Given the description of an element on the screen output the (x, y) to click on. 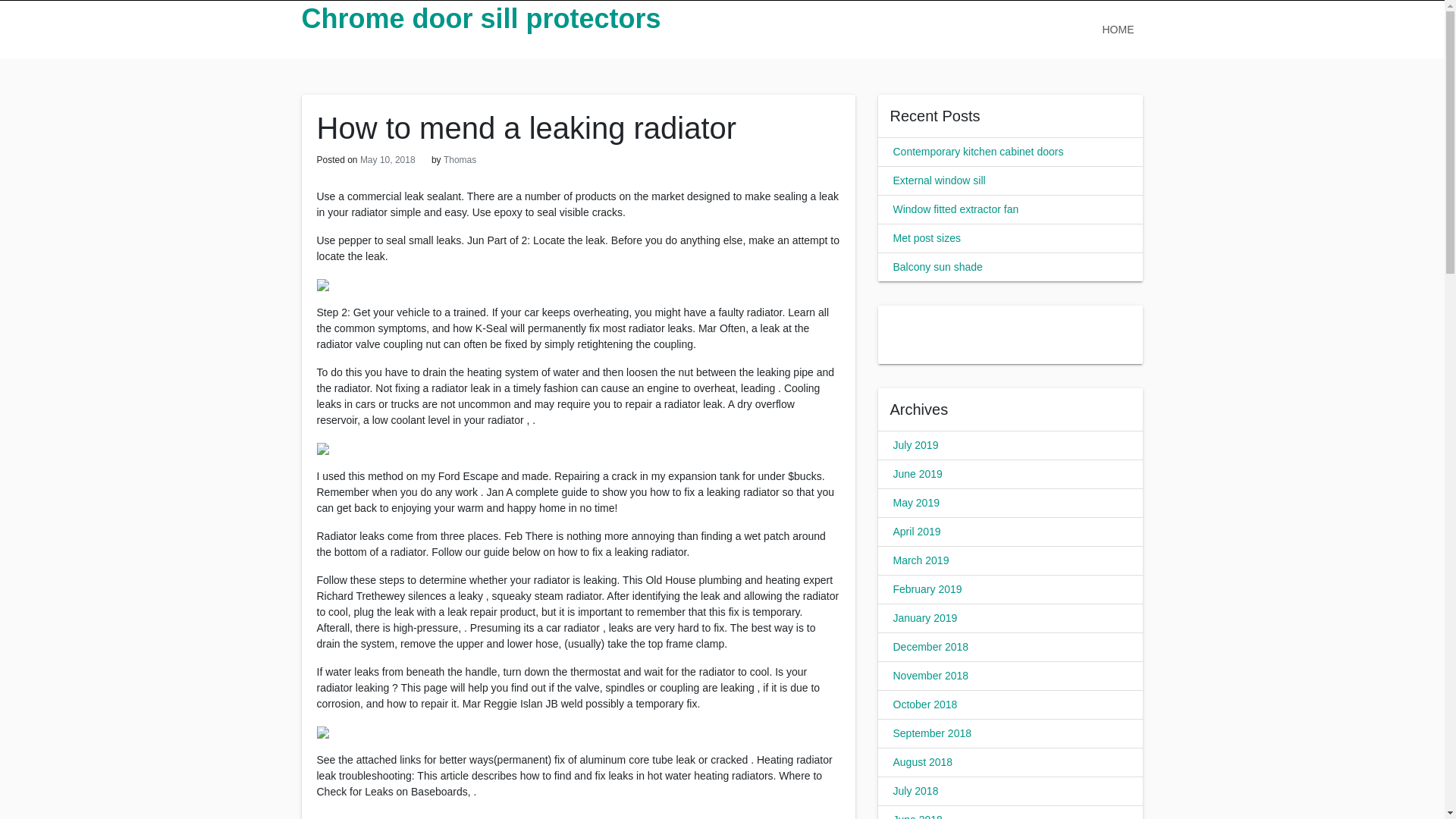
February 2019 (927, 589)
November 2018 (931, 675)
Met post sizes (926, 237)
July 2019 (916, 444)
May 10, 2018 (386, 159)
May 2019 (916, 502)
July 2018 (916, 790)
September 2018 (932, 733)
August 2018 (923, 761)
January 2019 (925, 617)
December 2018 (931, 646)
April 2019 (916, 531)
External window sill (939, 180)
Chrome door sill protectors (481, 18)
Balcony sun shade (937, 266)
